Given the description of an element on the screen output the (x, y) to click on. 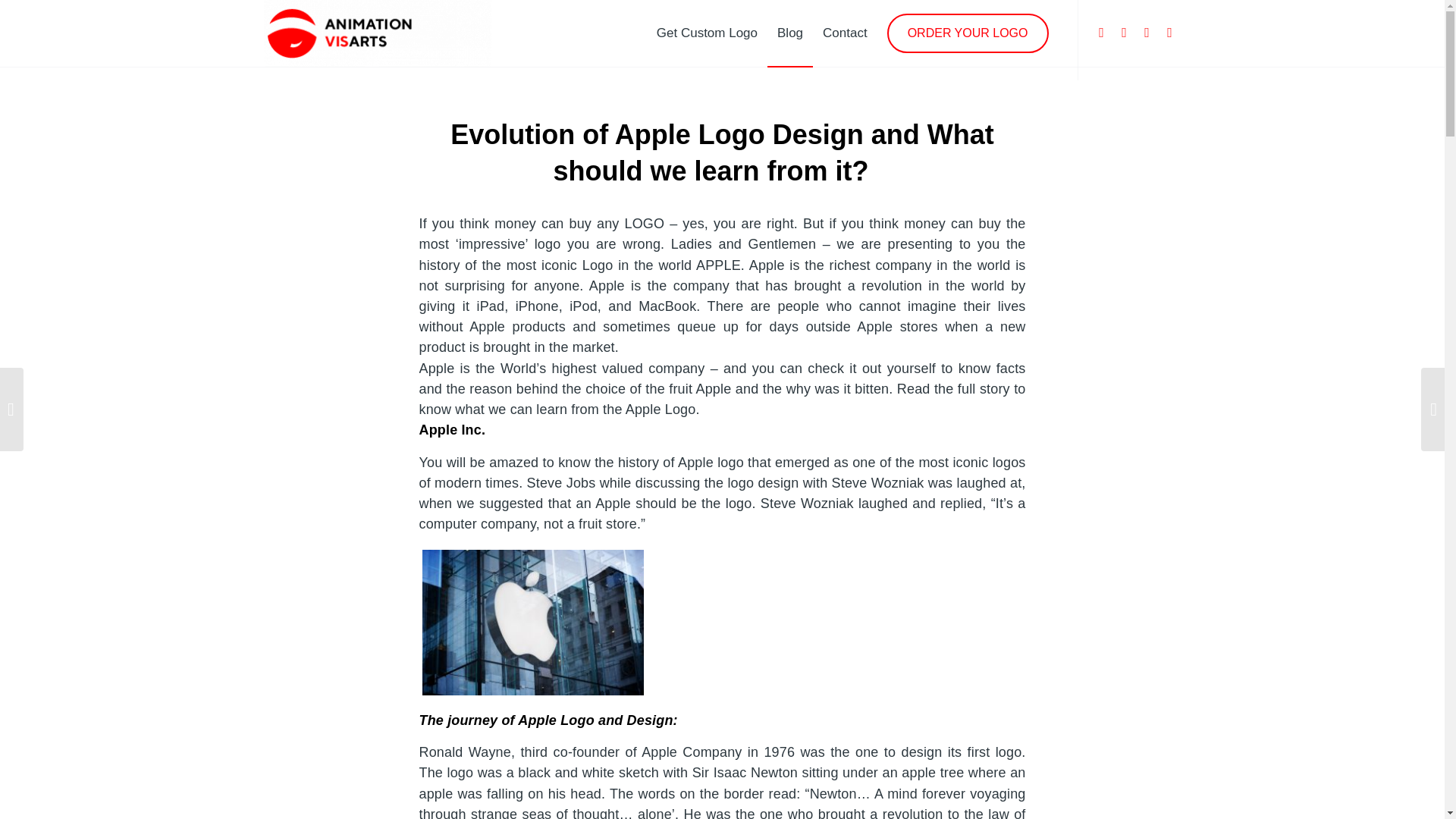
ORDER YOUR LOGO (967, 46)
Facebook (1124, 32)
Get Custom Logo (706, 33)
LinkedIn (1169, 32)
Blog (789, 33)
Contact (844, 33)
Dribbble (1146, 32)
Instagram (1101, 32)
